Given the description of an element on the screen output the (x, y) to click on. 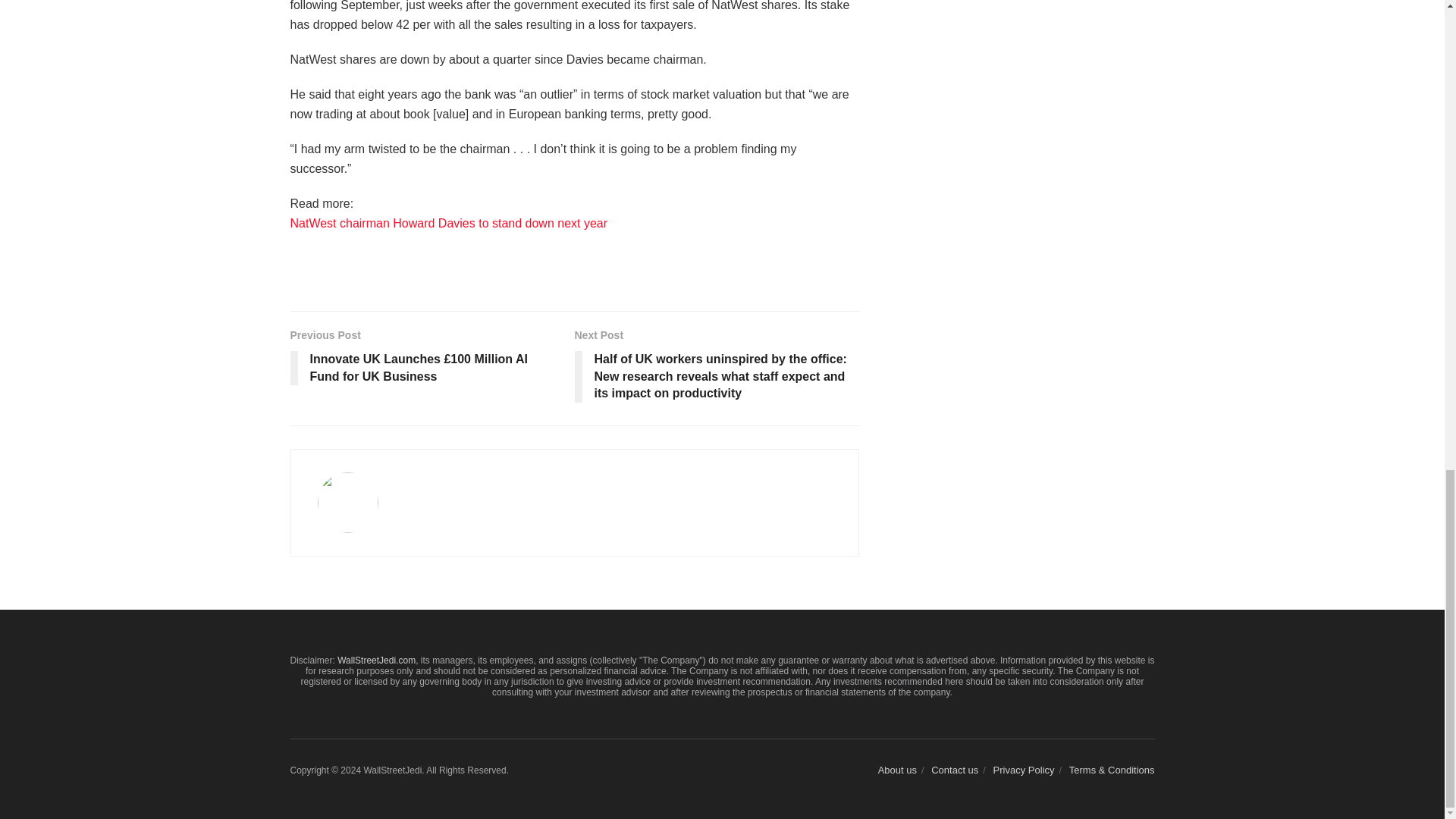
NatWest chairman Howard Davies to stand down next year (448, 223)
